Given the description of an element on the screen output the (x, y) to click on. 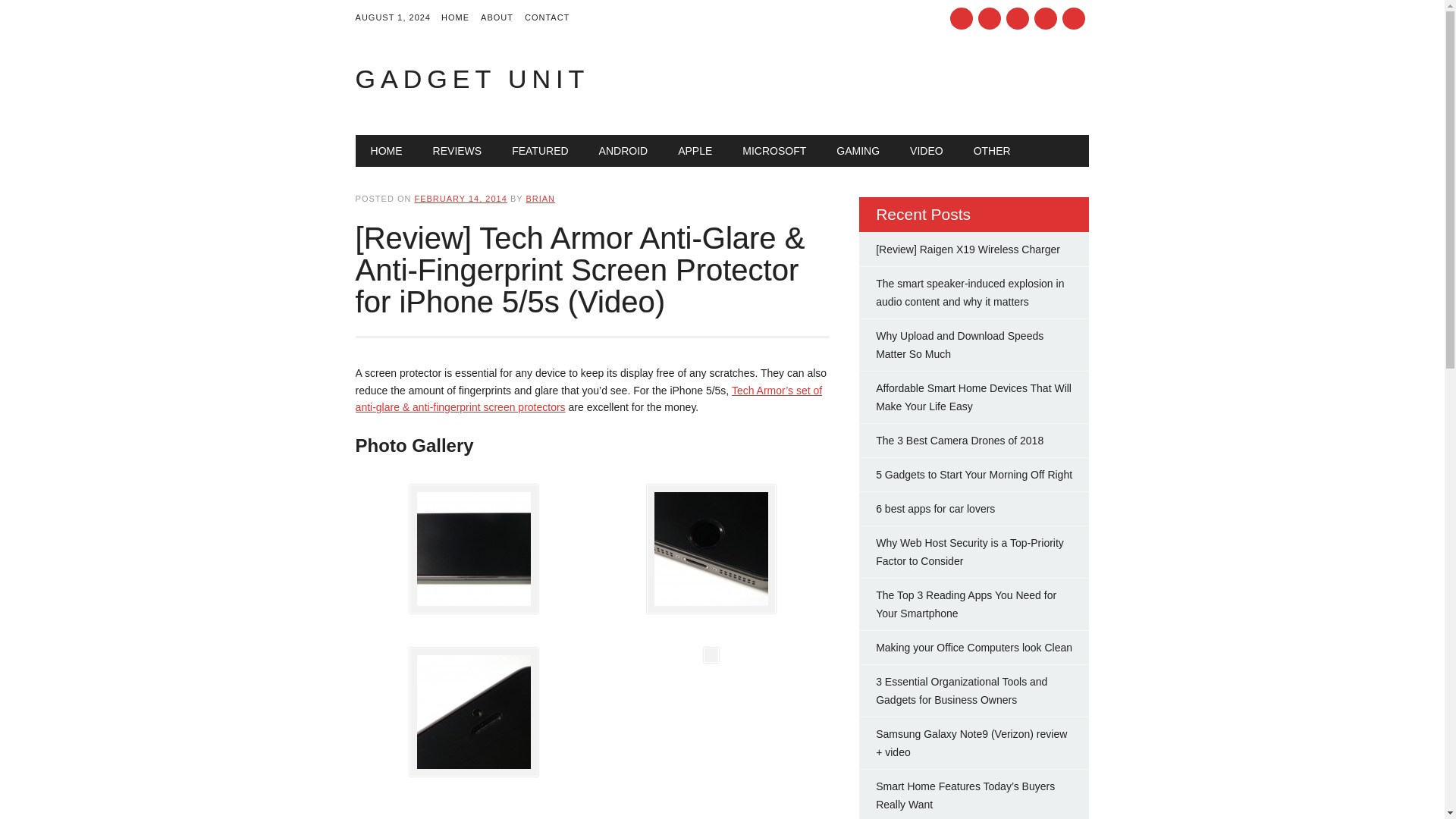
Skip to content (390, 143)
APPLE (694, 151)
FEATURED (539, 151)
ABOUT (502, 17)
Skip to content (390, 143)
HOME (460, 17)
RSS (1017, 18)
Twitter (961, 18)
VIDEO (926, 151)
Gadget Unit (472, 78)
OTHER (992, 151)
REVIEWS (457, 151)
9:42 PM (459, 198)
FEBRUARY 14, 2014 (459, 198)
E-mail (1045, 18)
